Given the description of an element on the screen output the (x, y) to click on. 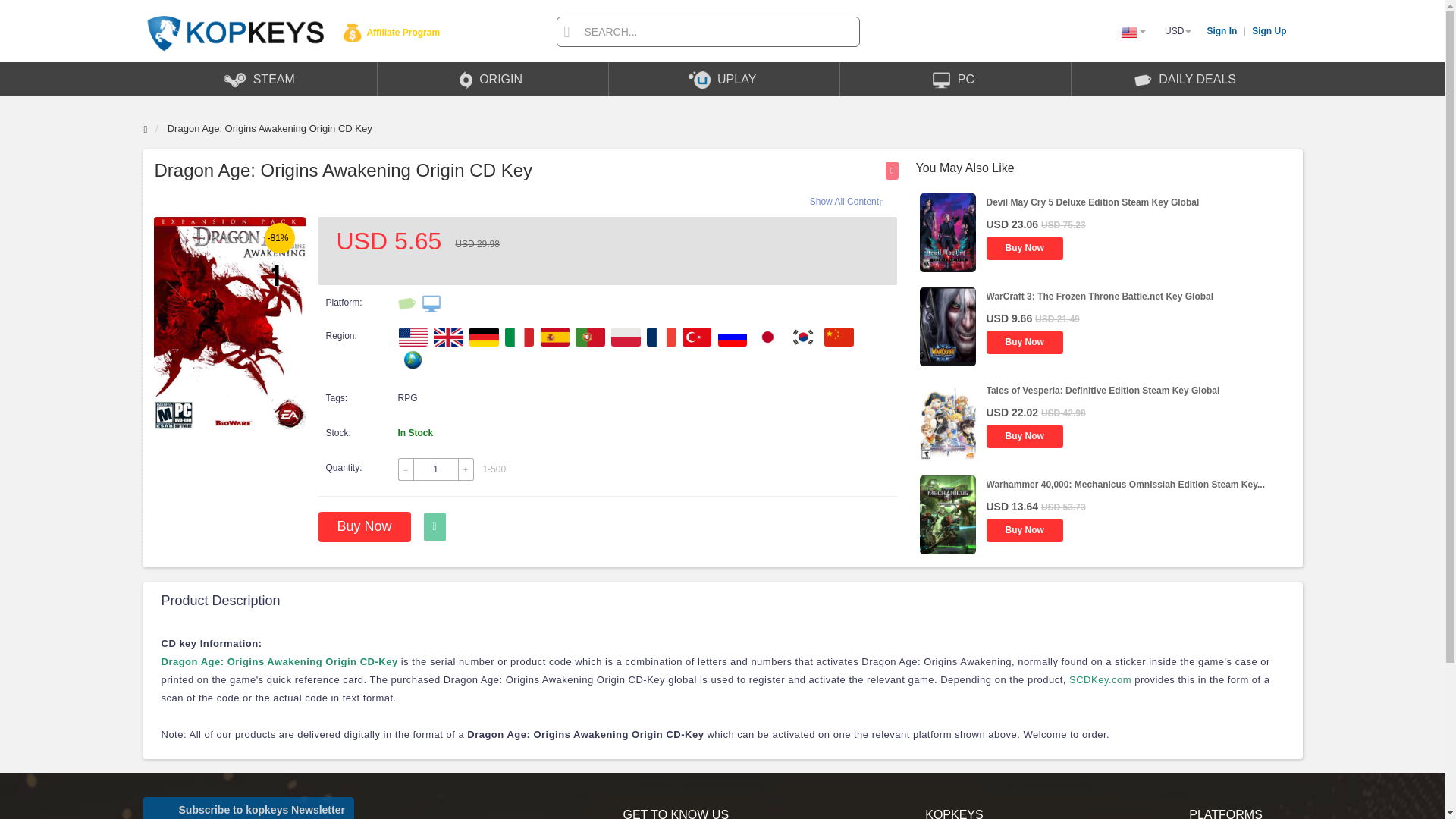
Subscribe to kopkeys Newsletter (247, 807)
ORIGIN (492, 79)
Tales of Vesperia: Definitive Edition Steam Key Global (1102, 389)
Warhammer 40,000: Mechanicus Omnissiah Edition Steam Key... (1124, 484)
PC (955, 79)
UPLAY (724, 79)
WarCraft 3: The Frozen Throne Battle.net Key Global (1098, 296)
Affiliate Program (391, 32)
DAILY DEALS (1186, 79)
SCDKey.com (1099, 679)
